Given the description of an element on the screen output the (x, y) to click on. 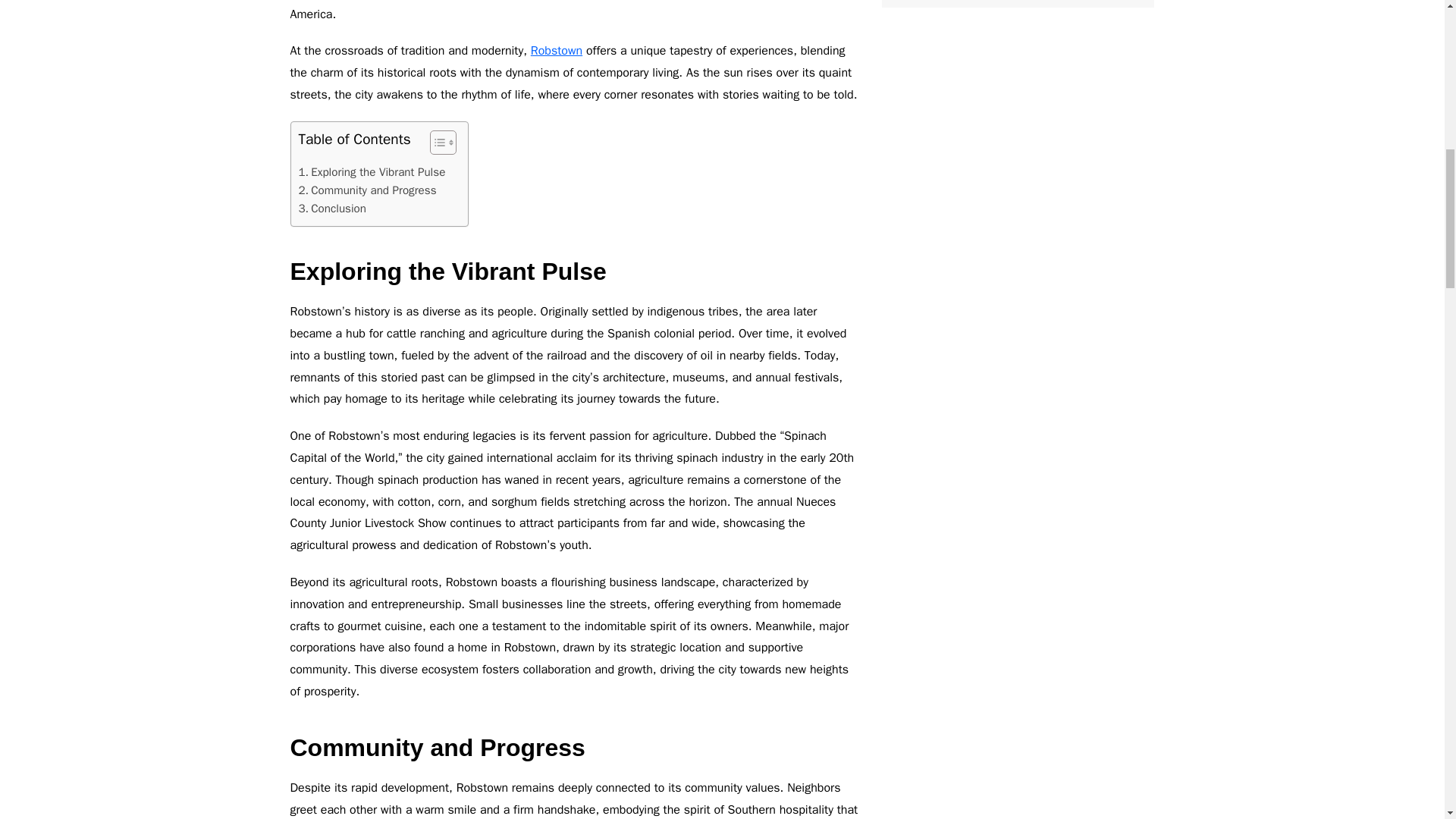
Exploring the Vibrant Pulse (371, 171)
Community and Progress (367, 189)
Exploring the Vibrant Pulse (371, 171)
Conclusion (332, 208)
Community and Progress (367, 189)
Robstown (556, 50)
Conclusion (332, 208)
